Given the description of an element on the screen output the (x, y) to click on. 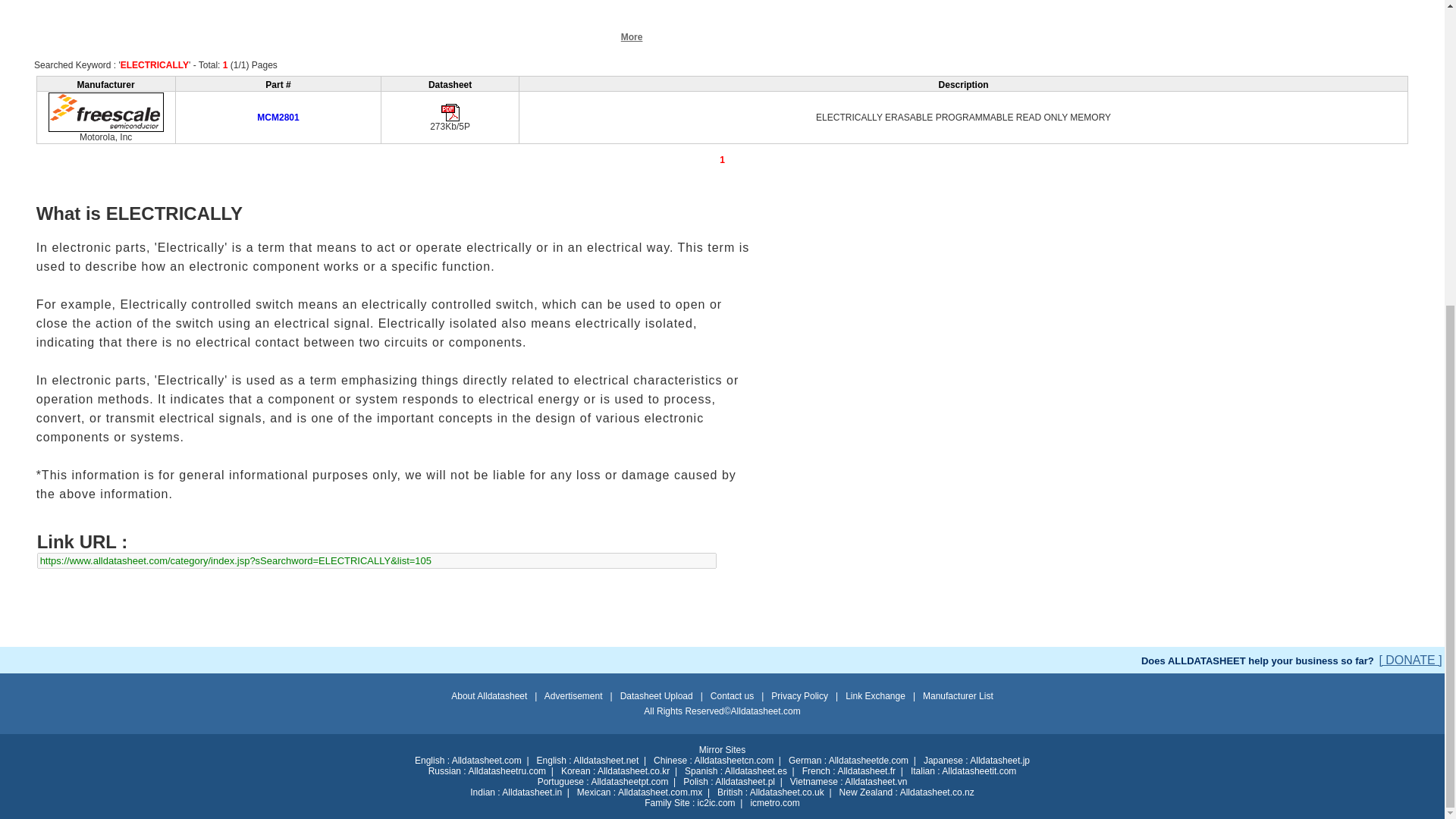
More (631, 36)
